Given the description of an element on the screen output the (x, y) to click on. 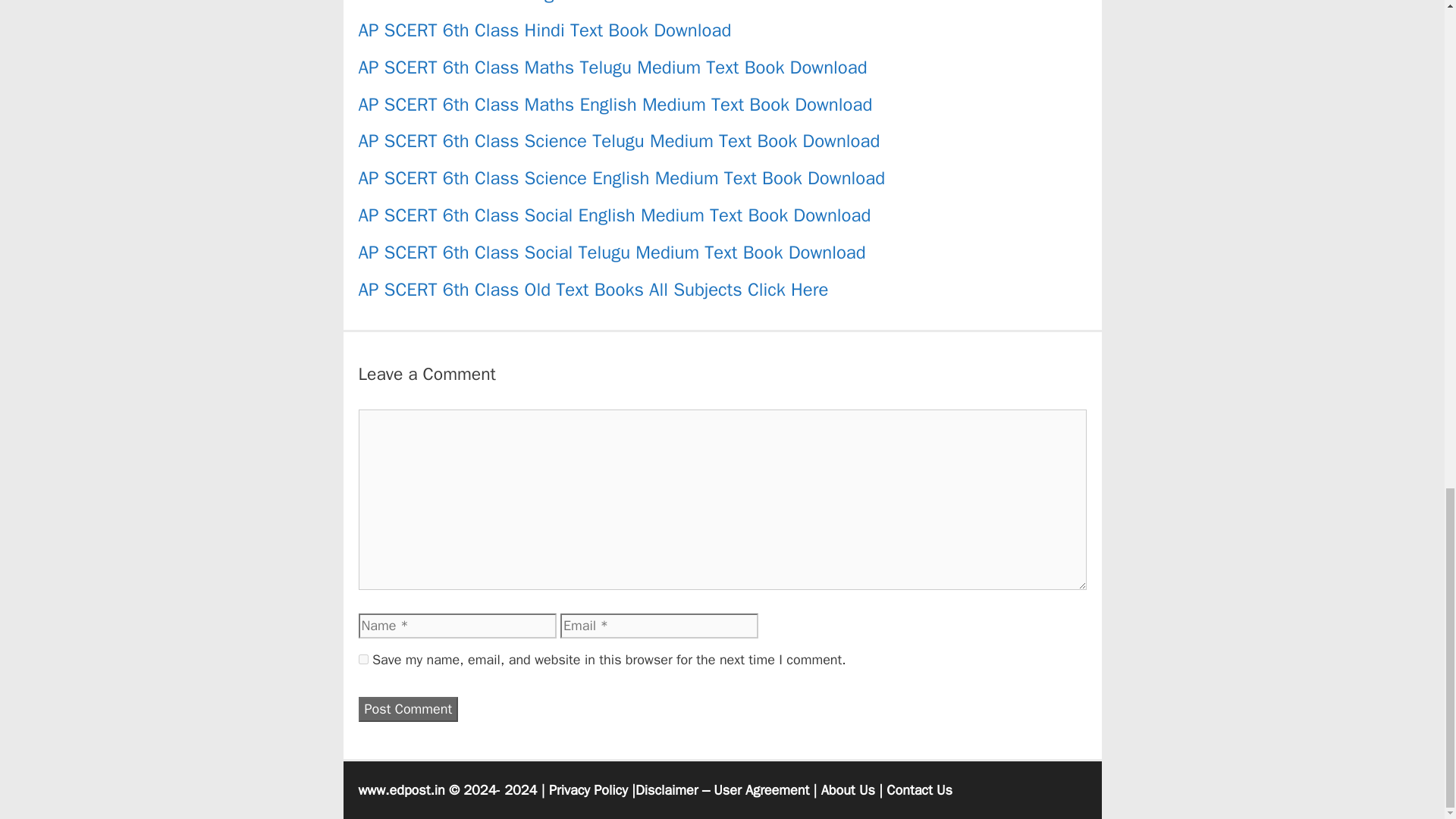
Contact Us (919, 790)
AP SCERT 6th Class Maths English Medium Text Book Download (615, 104)
AP SCERT 6th Class Maths Telugu Medium Text Book Download (612, 67)
Post Comment (408, 708)
AP SCERT 6th Class Social English Medium Text Book Download (614, 214)
AP SCERT 6th Class English Text Book Download (553, 2)
AP SCERT 6th Class Science Telugu Medium Text Book Download (618, 140)
AP SCERT 6th Class Social Telugu Medium Text Book Download (611, 251)
Post Comment (408, 708)
AP SCERT 6th Class Science English Medium Text Book Download (621, 178)
